Given the description of an element on the screen output the (x, y) to click on. 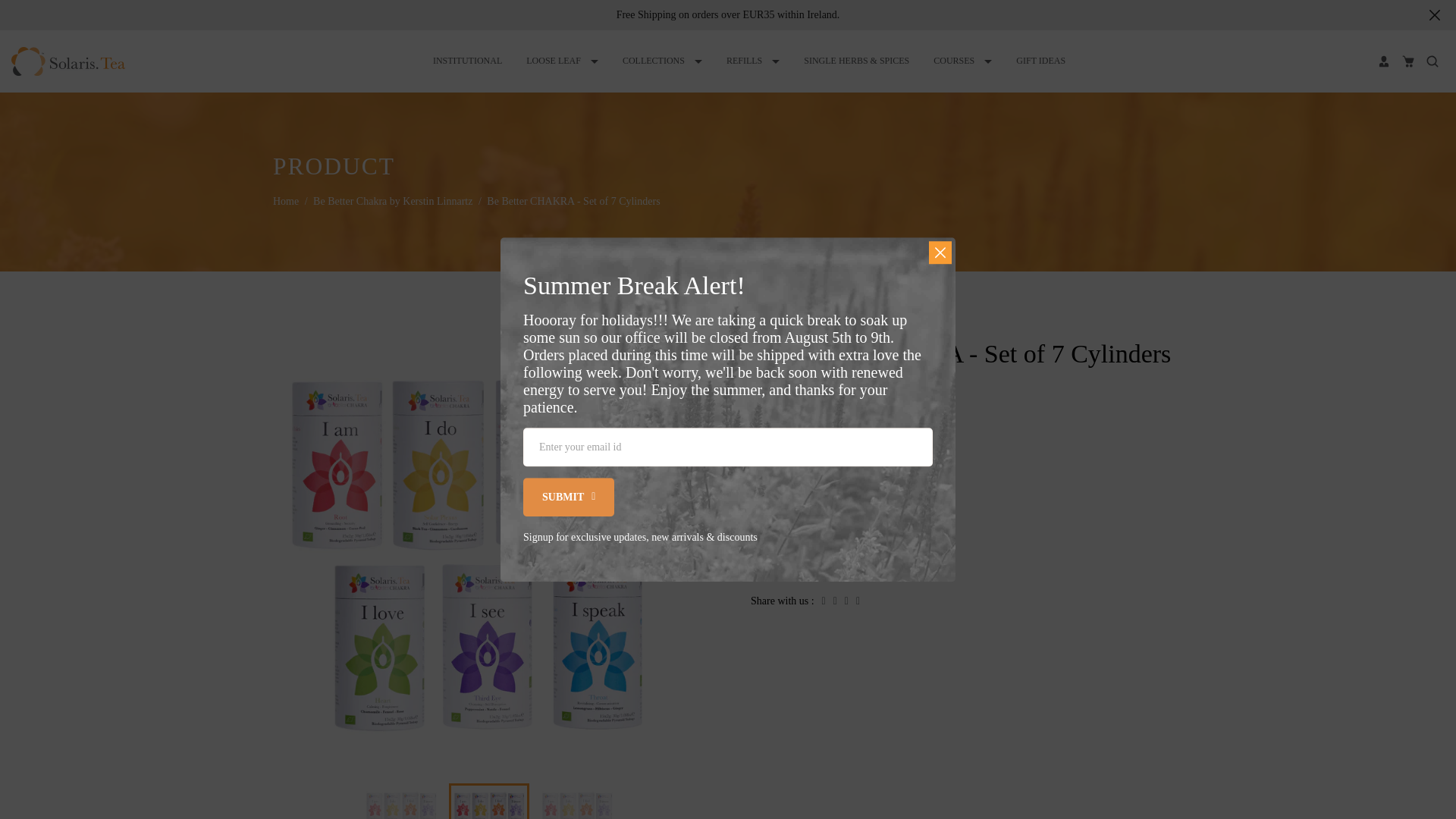
Your Cart (1407, 60)
REFILLS (752, 61)
Sign In (1383, 60)
INSTITUTIONAL (467, 61)
Back to the frontpage (286, 200)
Be Better CHAKRA - Set of 7 Cylinders (400, 802)
Be Better CHAKRA - Set of 7 Cylinders (489, 802)
Be Better CHAKRA - Set of 7 Cylinders (576, 802)
LOOSE LEAF (562, 61)
Free Shipping on orders over EUR35 within Ireland. (727, 14)
1 (901, 503)
COLLECTIONS (662, 61)
Search (1432, 60)
COURSES (962, 61)
